Given the description of an element on the screen output the (x, y) to click on. 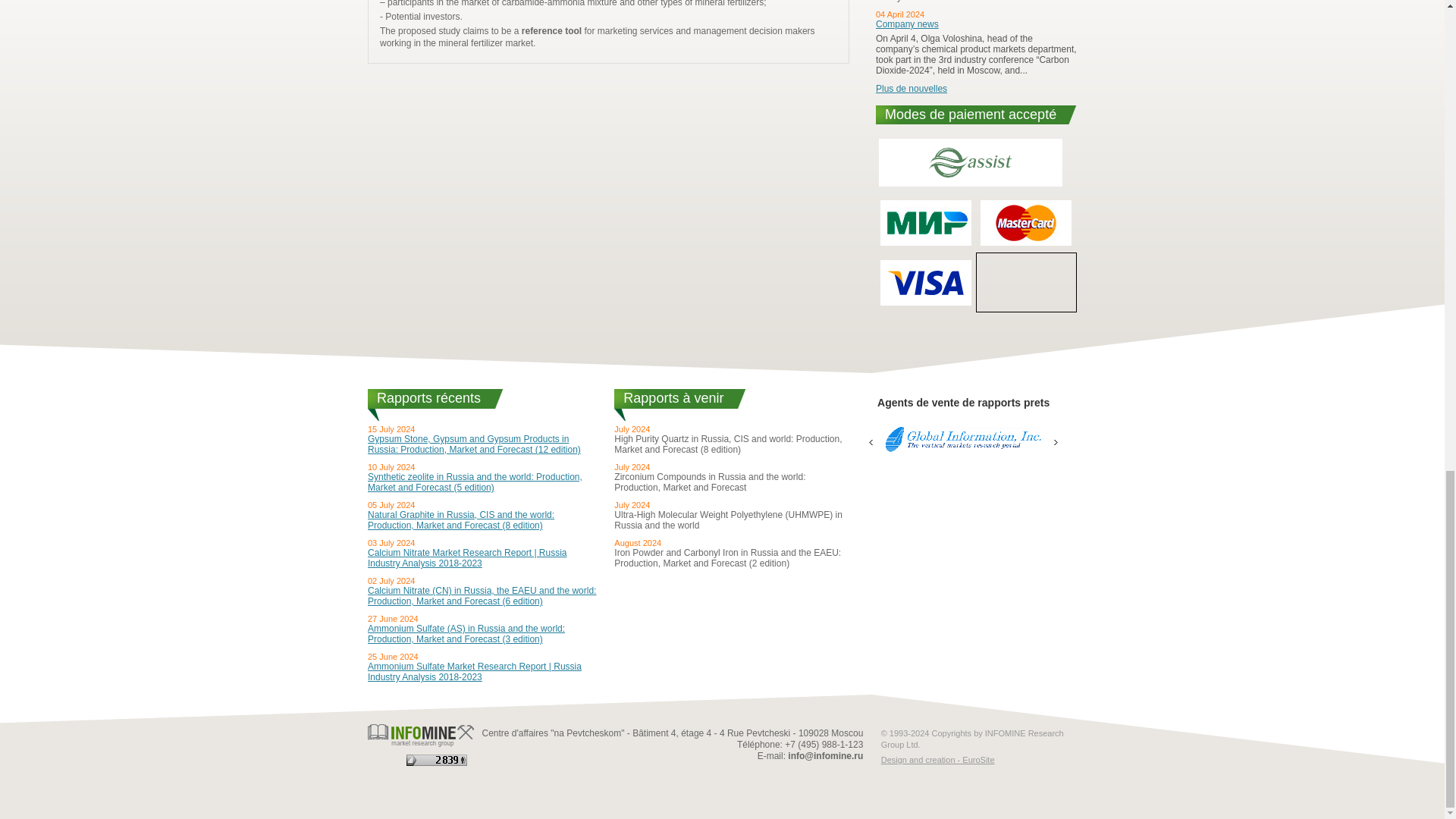
Global Information, Inc (963, 438)
